Given the description of an element on the screen output the (x, y) to click on. 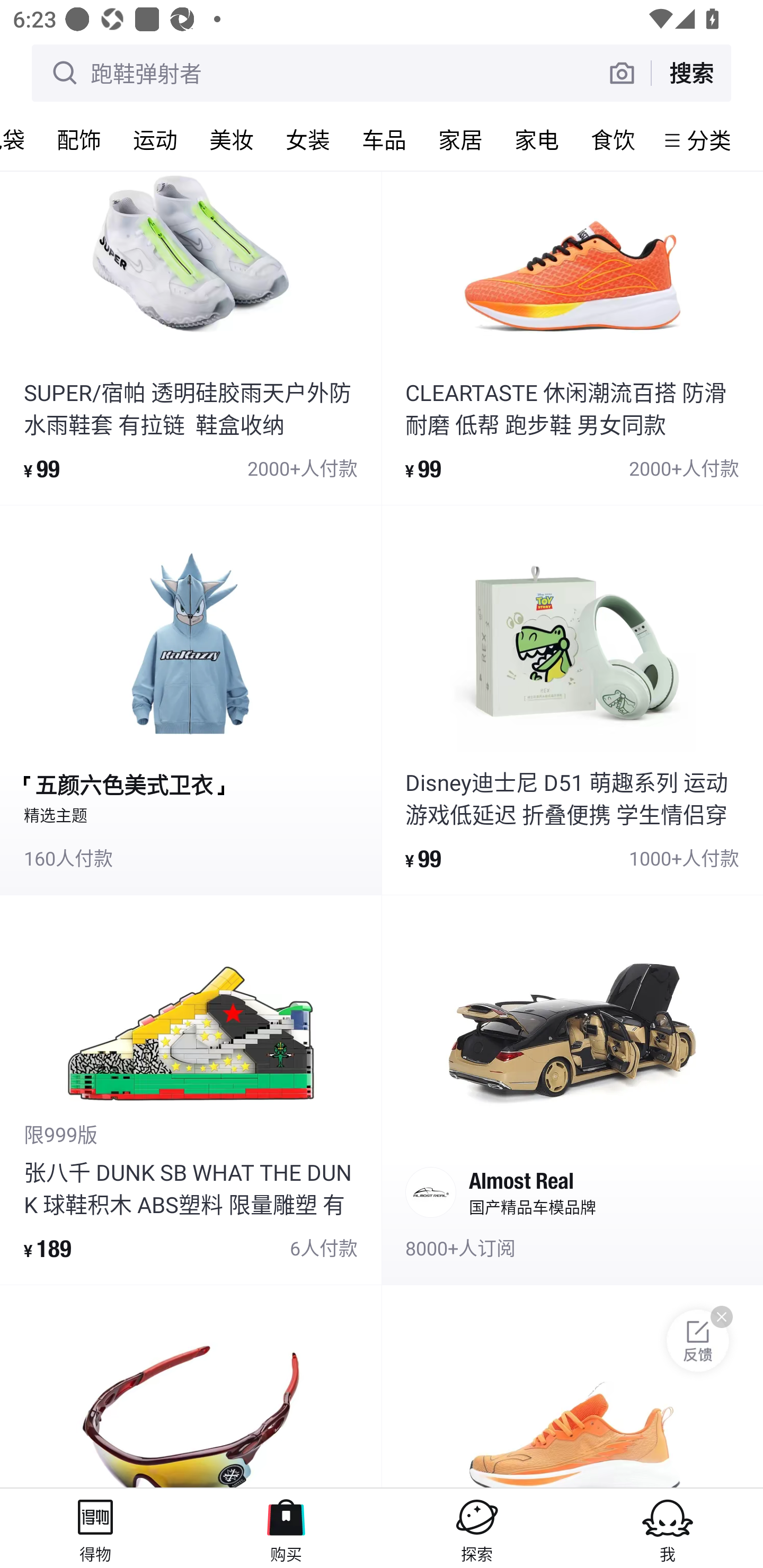
搜索 (690, 72)
配饰 (78, 139)
运动 (154, 139)
美妆 (231, 139)
女装 (307, 139)
车品 (383, 139)
家居 (459, 139)
家电 (536, 139)
食饮 (612, 139)
分类 (708, 139)
五颜六色美式卫衣 精选主题 160人付款 (190, 699)
Almost Real 国产精品车模品牌 8000+人订阅 (572, 1089)
product_item (190, 1386)
product_item (572, 1386)
得物 (95, 1528)
购买 (285, 1528)
探索 (476, 1528)
我 (667, 1528)
